Given the description of an element on the screen output the (x, y) to click on. 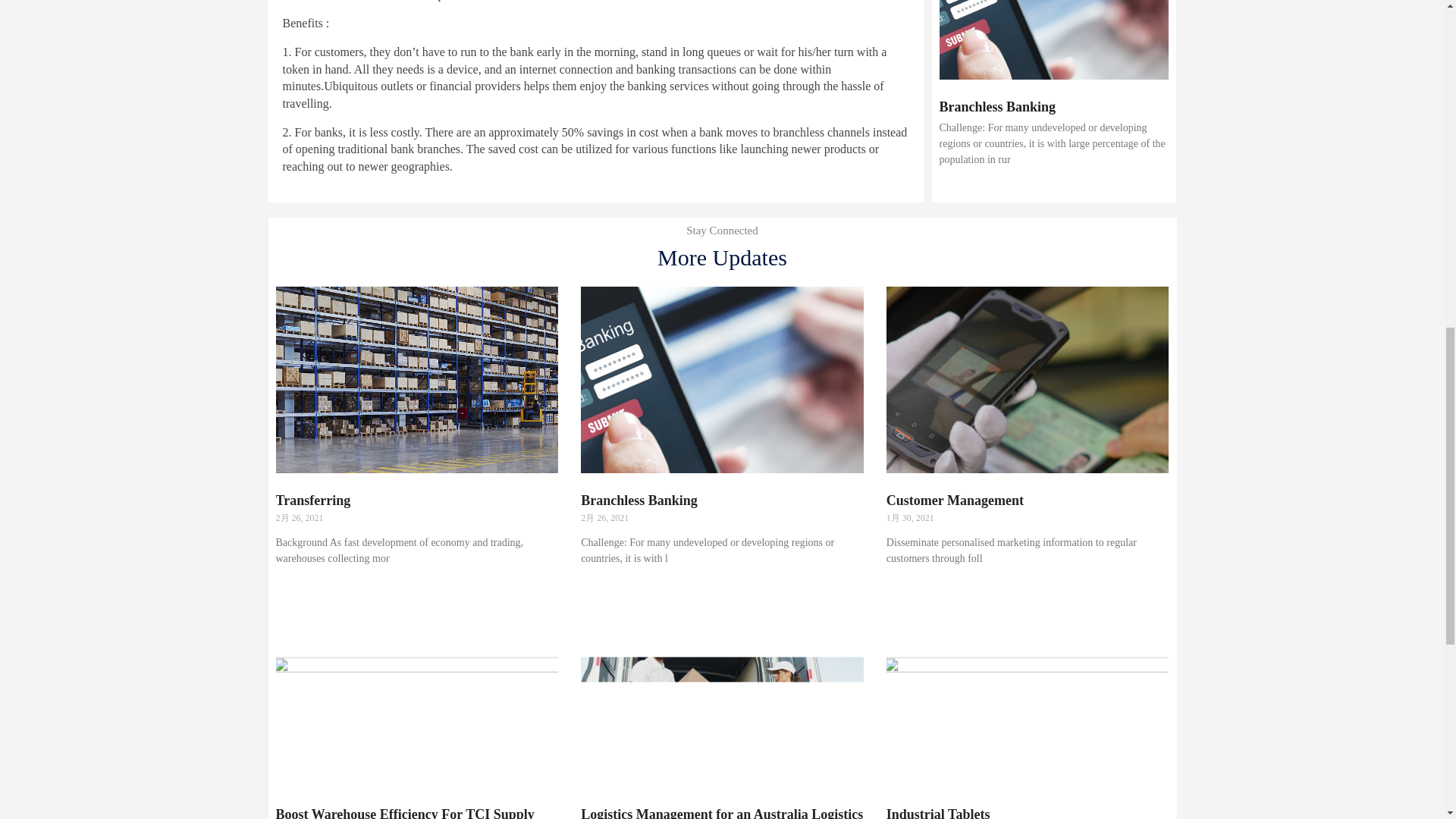
Boost Warehouse Efficiency For TCI Supply Chain Solution (405, 812)
Branchless Banking (638, 500)
Customer Management (954, 500)
Branchless Banking (997, 106)
Industrial Tablets (938, 812)
Logistics Management for an Australia Logistics Company (721, 812)
Transferring (313, 500)
